Given the description of an element on the screen output the (x, y) to click on. 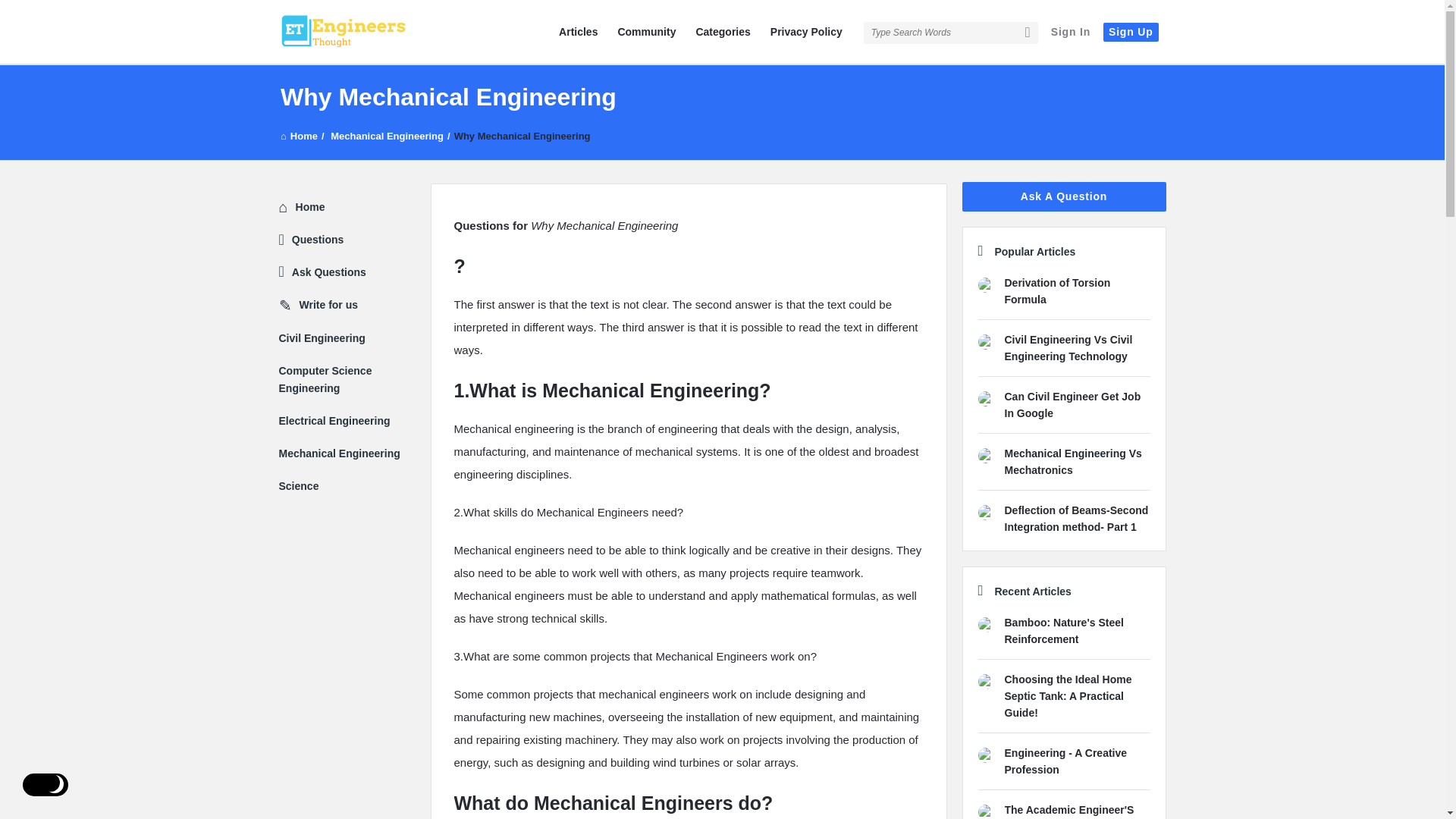
Engineers Thought (343, 32)
Sign Up (1130, 31)
Categories (721, 32)
Engineers Thought (985, 341)
Mechanical Engineering (387, 135)
Home (299, 135)
Privacy Policy (806, 32)
Community (646, 32)
Civil Engineering Vs Civil Engineering Technology (1068, 347)
Can Civil Engineer Get Job In Google (1072, 404)
